Given the description of an element on the screen output the (x, y) to click on. 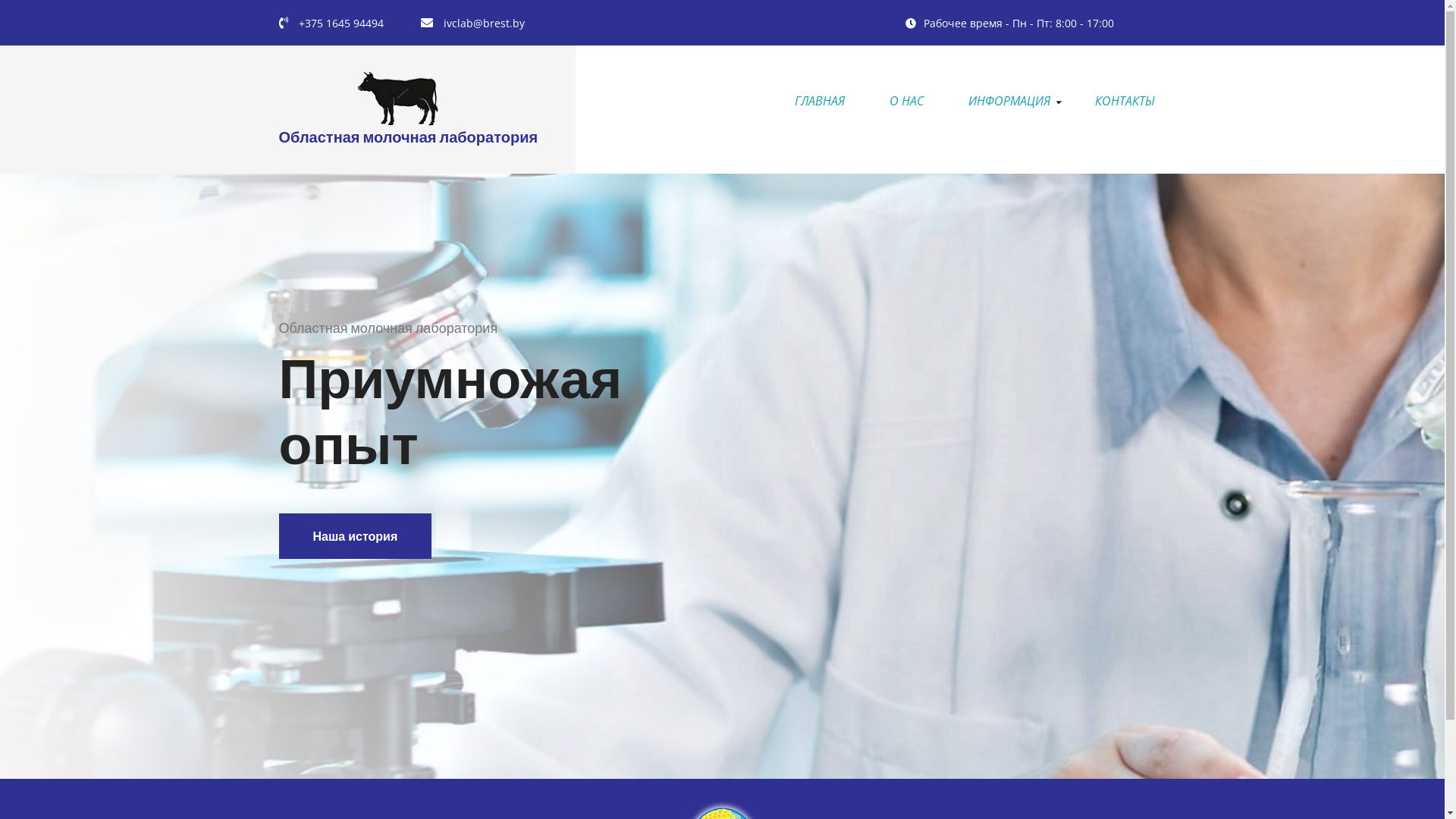
ivclab@brest.by Element type: text (483, 22)
+375 1645 94494 Element type: text (340, 22)
